Given the description of an element on the screen output the (x, y) to click on. 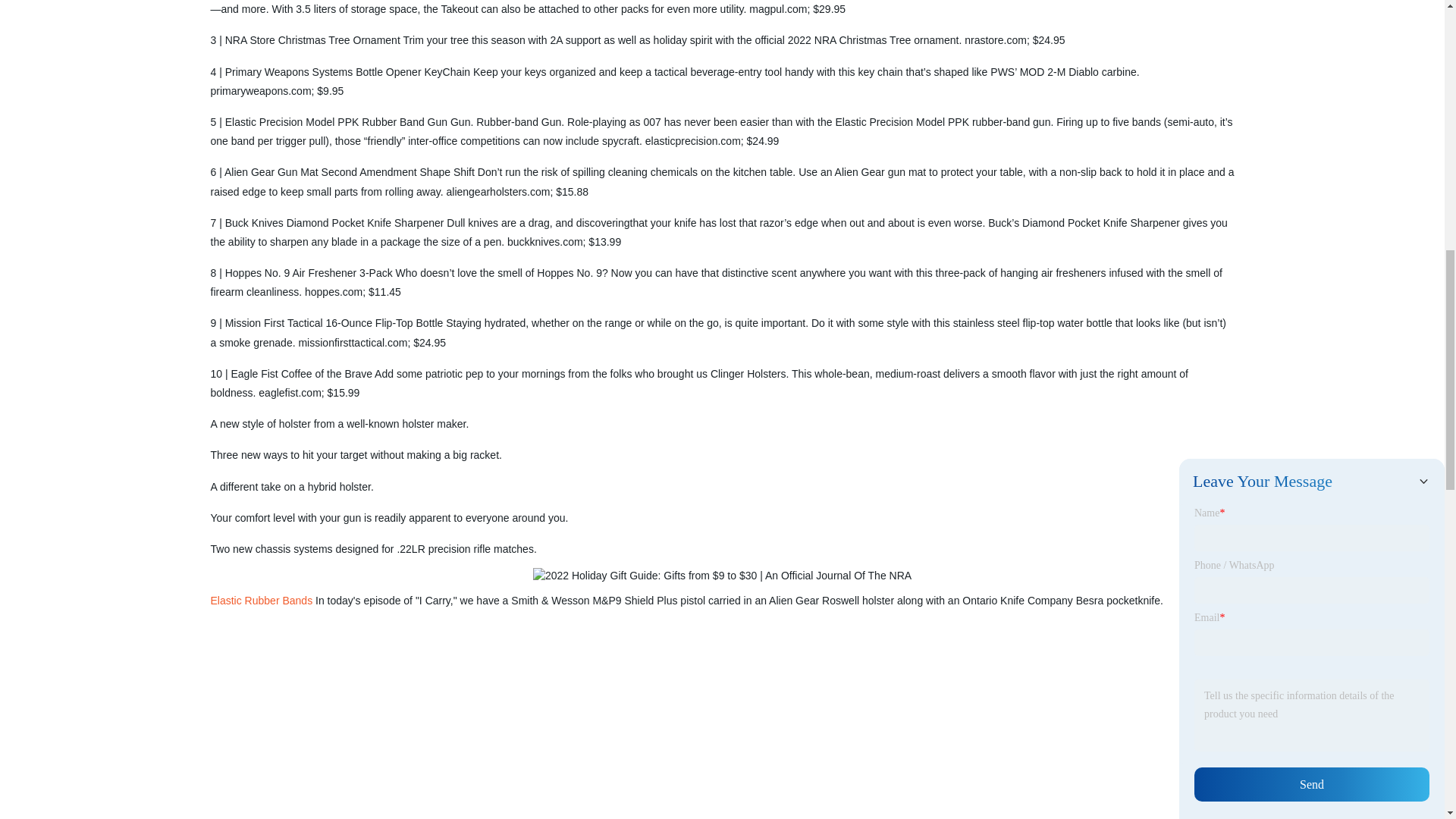
Elastic Rubber Bands (262, 600)
